Given the description of an element on the screen output the (x, y) to click on. 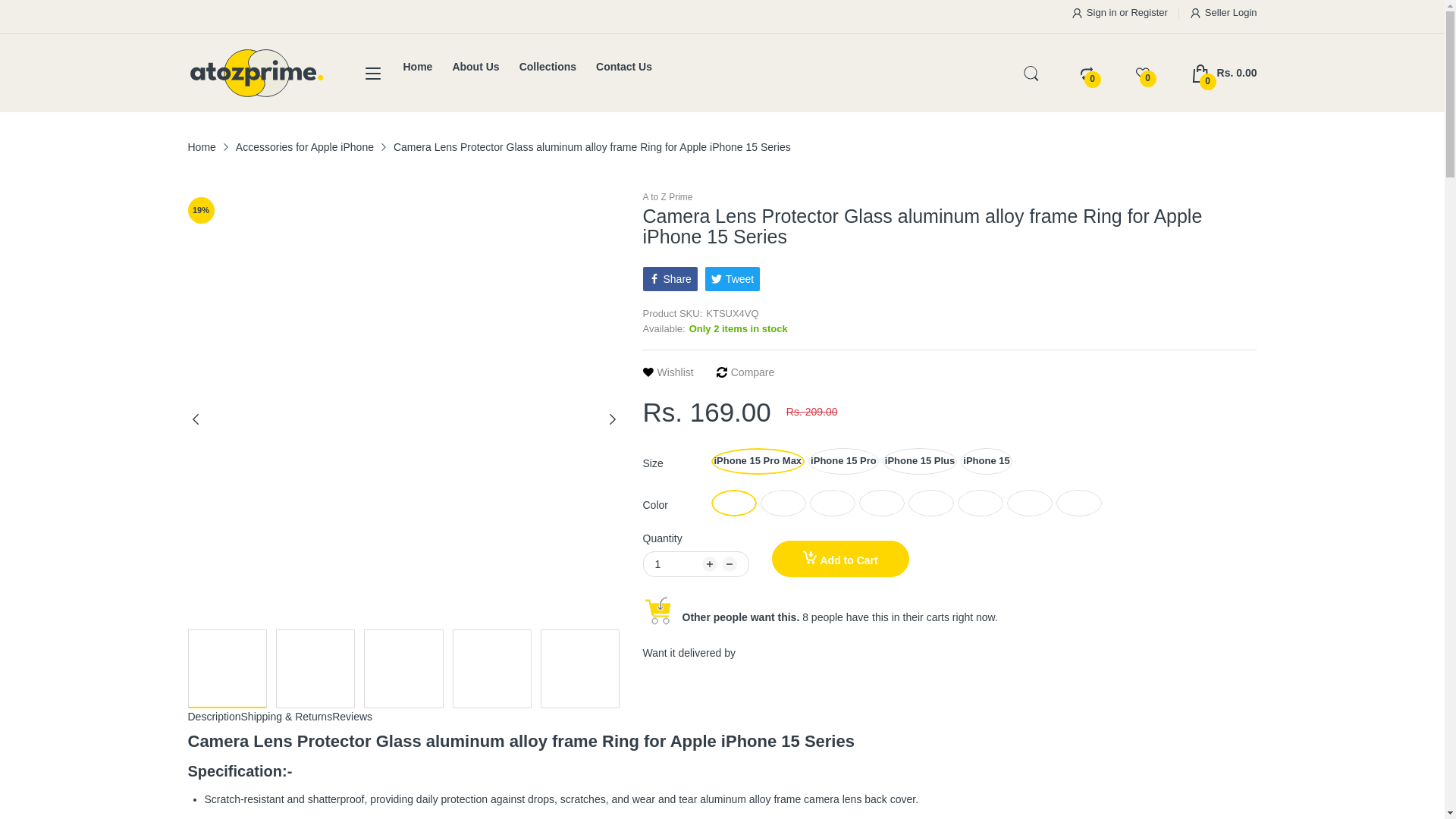
Contact Us (623, 66)
iPhone 15 (985, 461)
Share (670, 278)
Compare (745, 372)
Silver (881, 502)
Rose Gold (979, 502)
Tweet (732, 278)
0 (1087, 73)
